Given the description of an element on the screen output the (x, y) to click on. 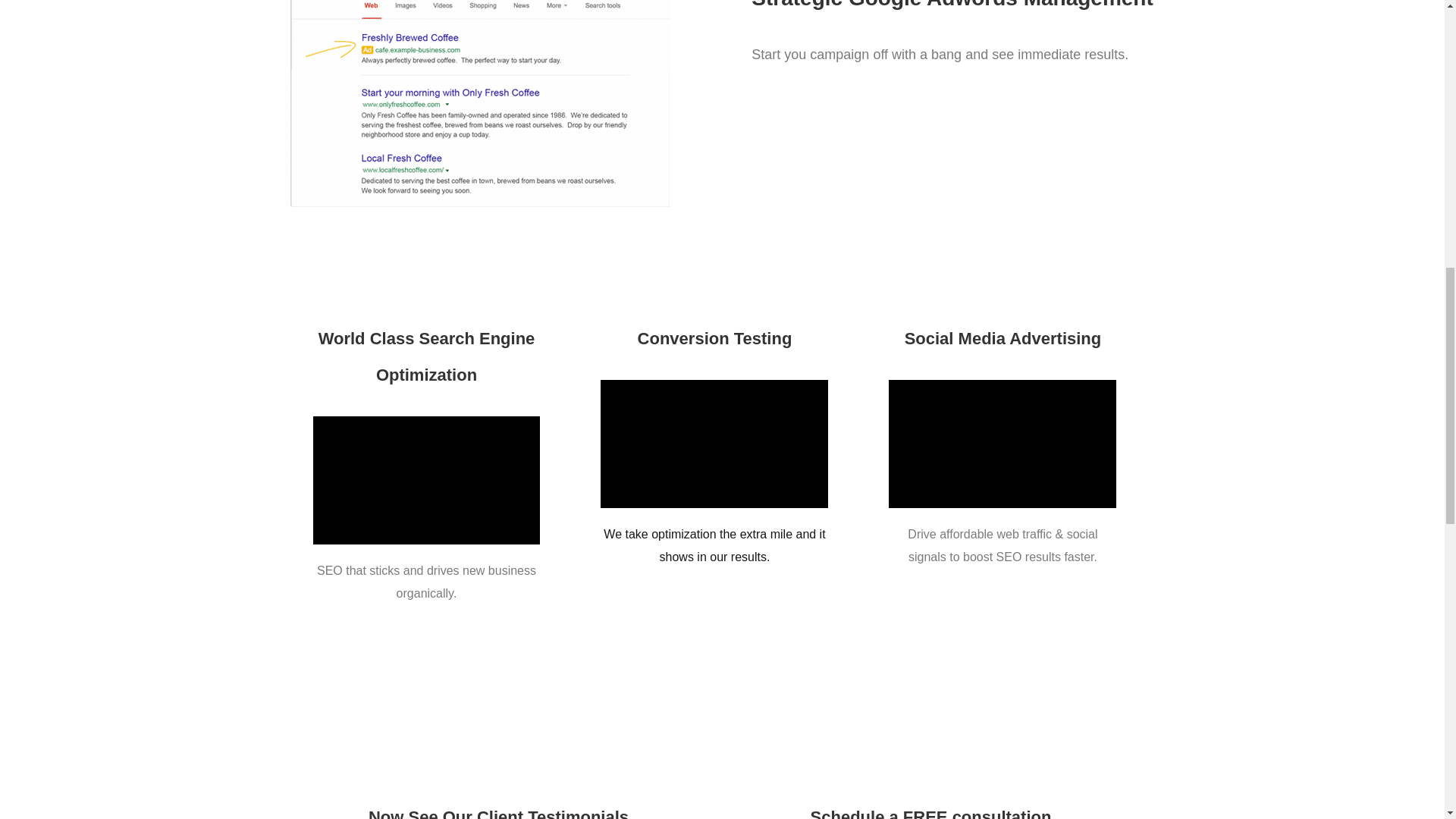
vimeo Video Player (426, 480)
vimeo Video Player (713, 443)
vimeo Video Player (1002, 443)
